Given the description of an element on the screen output the (x, y) to click on. 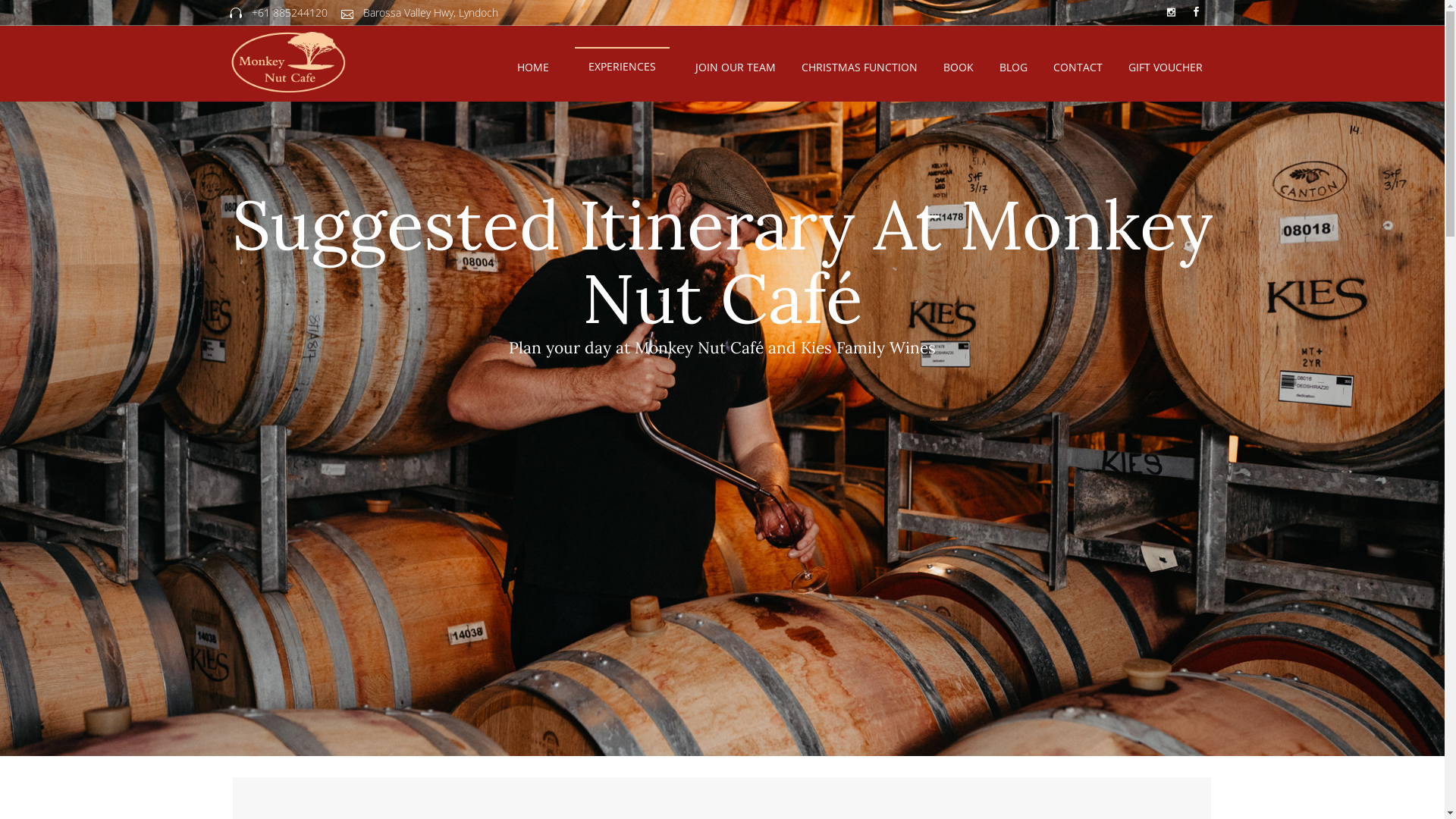
CHRISTMAS FUNCTION Element type: text (859, 67)
JOIN OUR TEAM Element type: text (735, 67)
BOOK Element type: text (957, 67)
CONTACT Element type: text (1077, 67)
BLOG Element type: text (1012, 67)
EXPERIENCES Element type: text (621, 67)
HOME Element type: text (532, 67)
GIFT VOUCHER Element type: text (1164, 67)
